Given the description of an element on the screen output the (x, y) to click on. 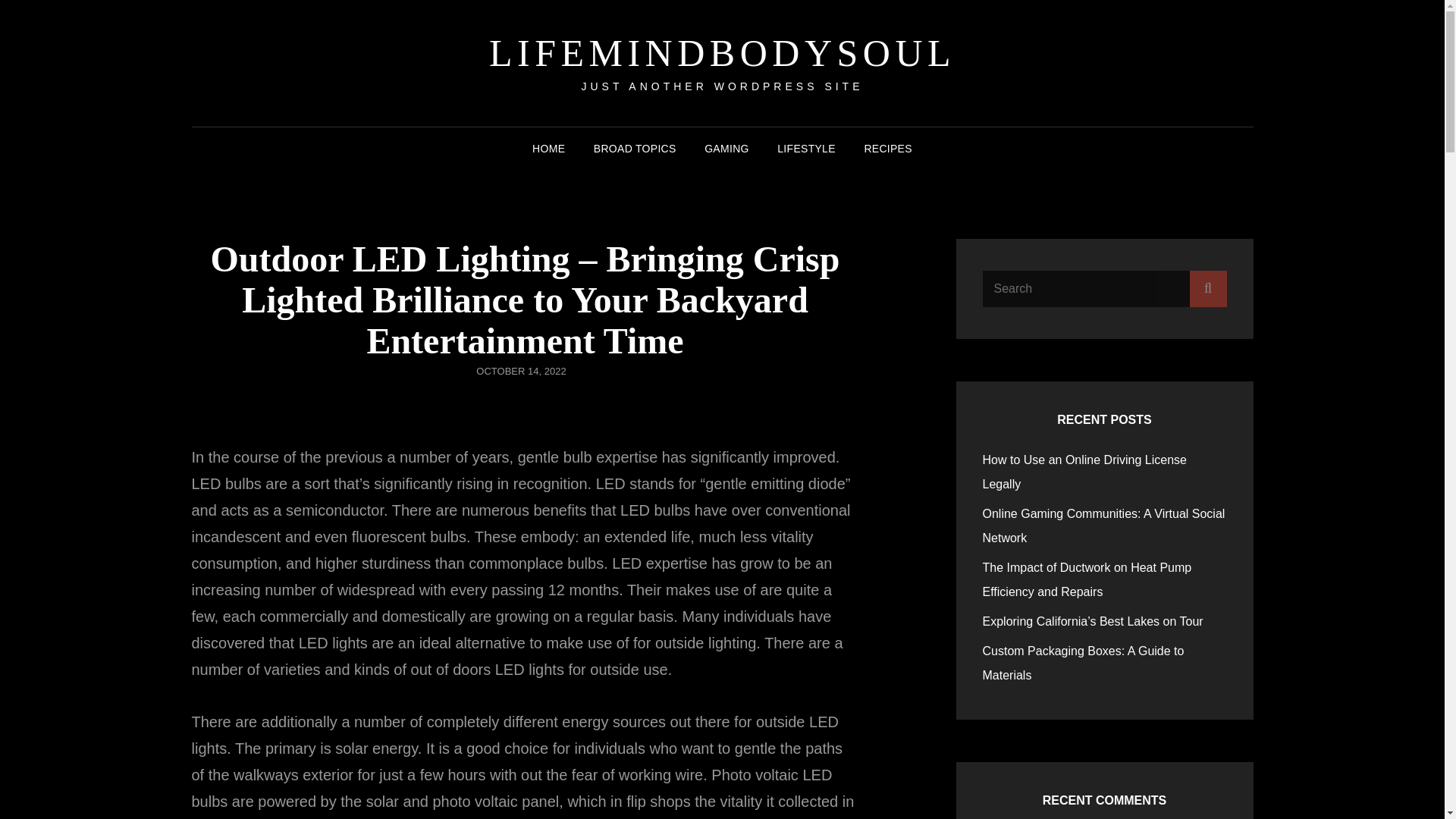
How to Use an Online Driving License Legally (1084, 471)
Search (1207, 288)
LIFEMINDBODYSOUL (722, 52)
RECIPES (887, 148)
Online Gaming Communities: A Virtual Social Network (1103, 525)
Custom Packaging Boxes: A Guide to Materials (1083, 662)
OCTOBER 14, 2022 (521, 370)
The Impact of Ductwork on Heat Pump Efficiency and Repairs (1087, 579)
HOME (547, 148)
GAMING (727, 148)
